Given the description of an element on the screen output the (x, y) to click on. 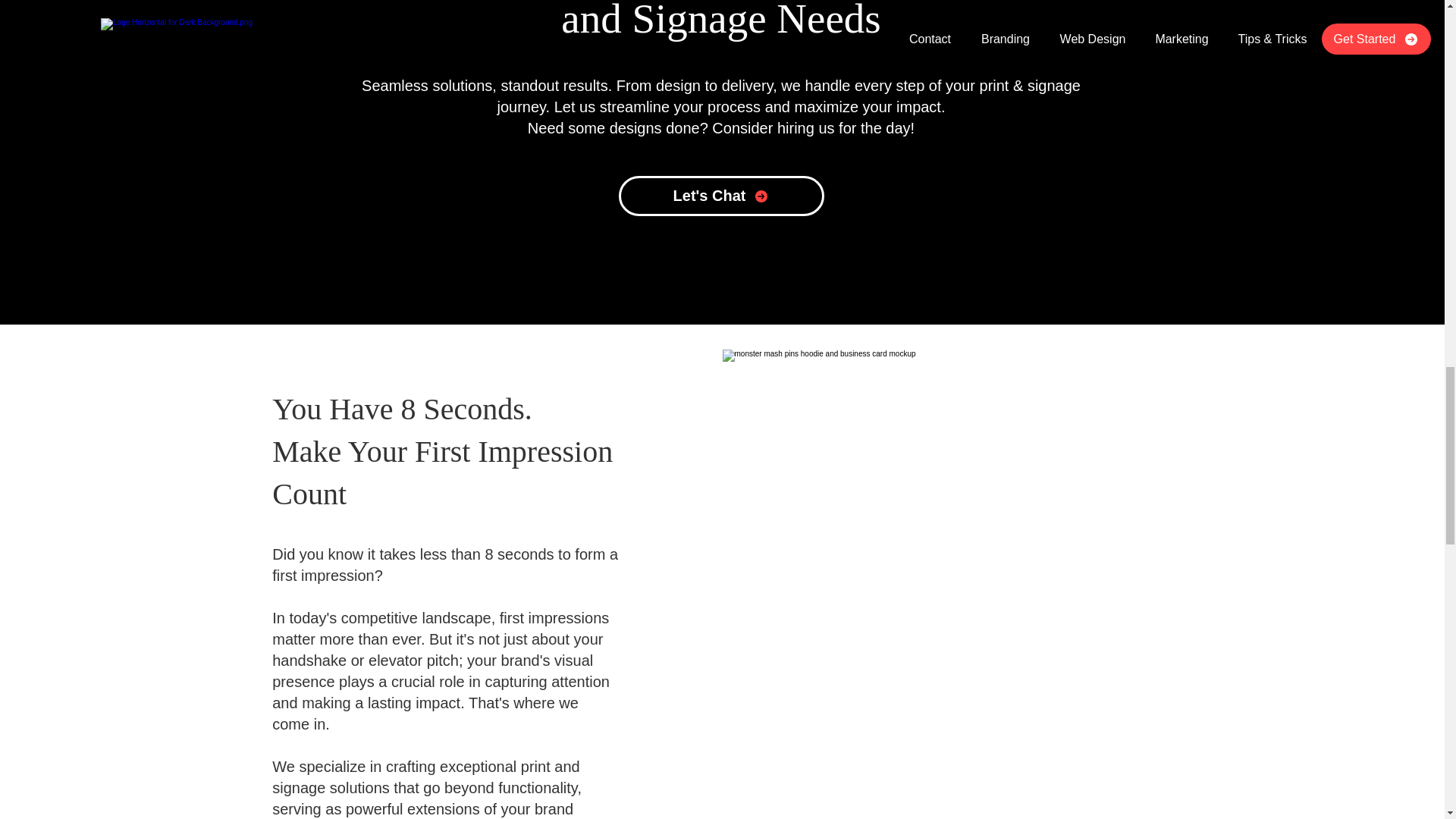
Let's Chat (721, 196)
